Given the description of an element on the screen output the (x, y) to click on. 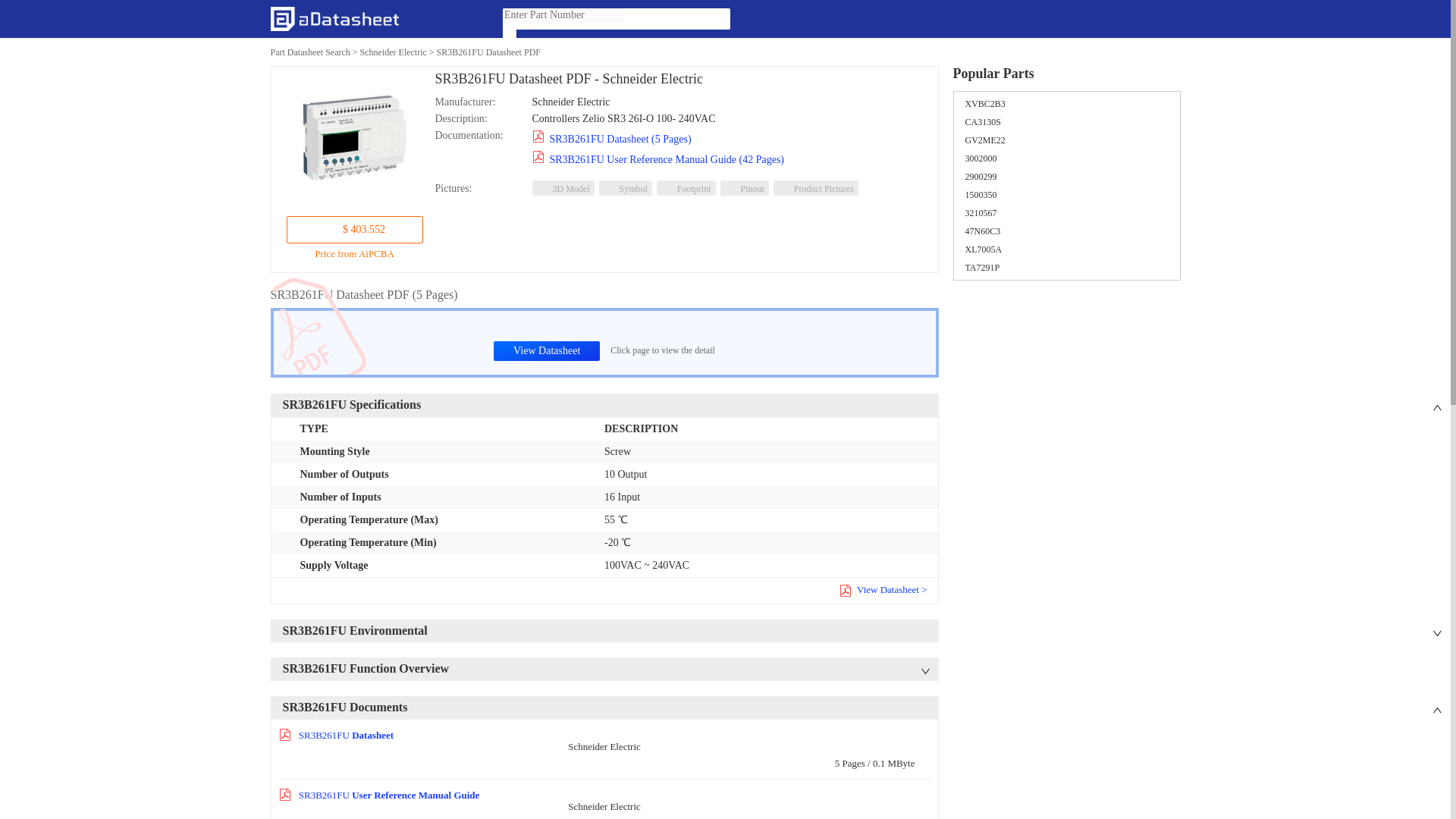
3D Model (563, 187)
Part Datasheet Search (309, 51)
2900299 (979, 176)
1500350 (979, 194)
3210567 (979, 213)
CA3130S (981, 122)
View Datasheet (546, 351)
3002000 (979, 158)
47N60C3 (981, 231)
TA7291P (980, 267)
SR3B261FU User Reference Manual Guide (379, 794)
XL7005A (982, 249)
XVBC2B3 (983, 103)
XVBC2B3 (983, 103)
SR3B261FU Datasheet (336, 735)
